Given the description of an element on the screen output the (x, y) to click on. 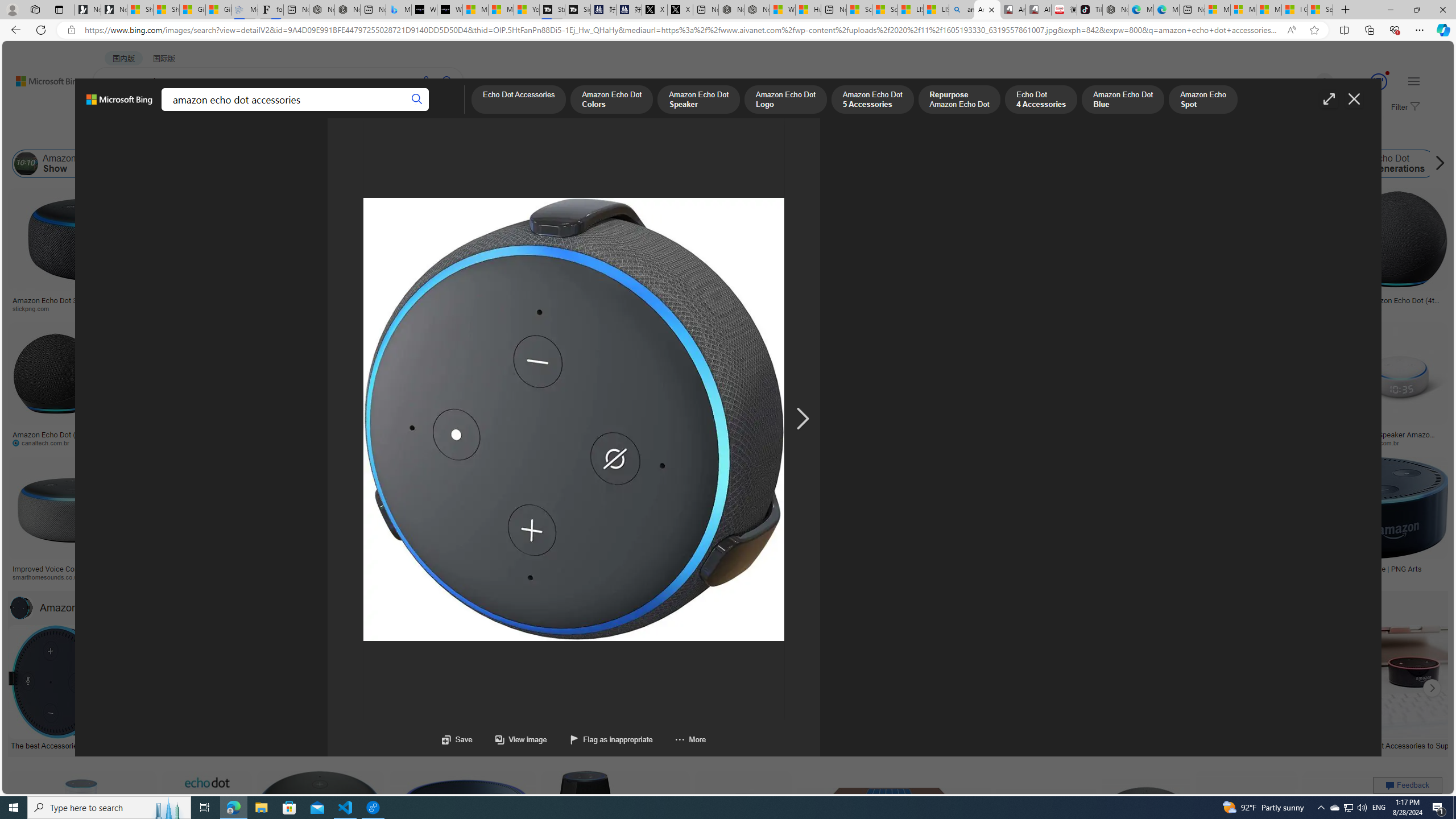
Layout (252, 135)
Save (457, 739)
Amazon Echo Dot Blue (1122, 100)
Repurpose Amazon Echo Dot (958, 100)
Amazon Echo Show (25, 163)
Amazon Echo Plus (1026, 163)
Image size (127, 135)
